Given the description of an element on the screen output the (x, y) to click on. 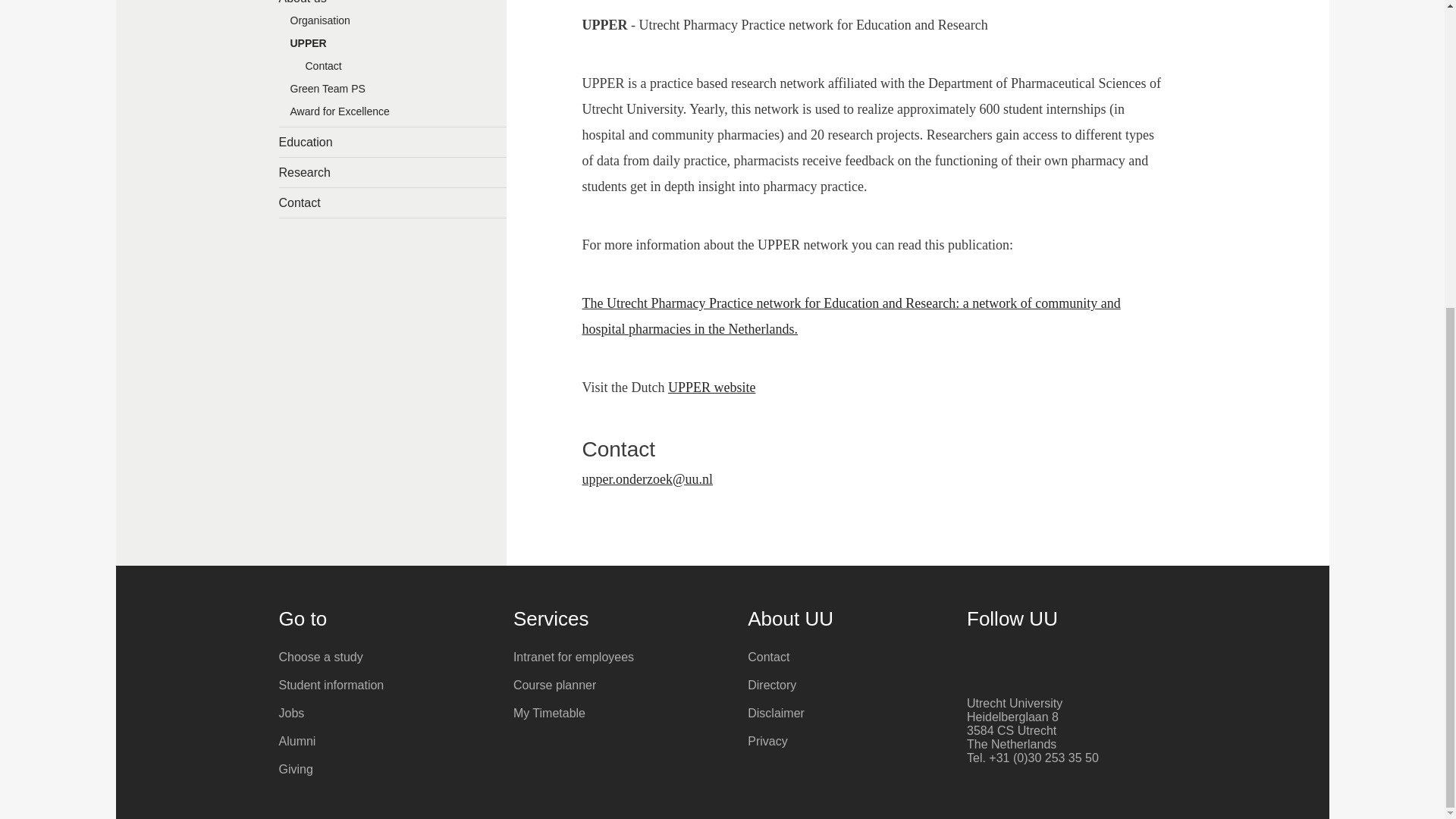
UPPER (392, 47)
Contact (853, 657)
Intranet for employees (619, 657)
Jobs (384, 713)
Course planner (619, 685)
Award for Excellence (392, 115)
My Timetable (619, 713)
Organisation (392, 24)
Contact (392, 202)
Alumni (384, 741)
Giving (384, 769)
Student information (384, 685)
Green Team PS (392, 92)
Directory (853, 685)
